Given the description of an element on the screen output the (x, y) to click on. 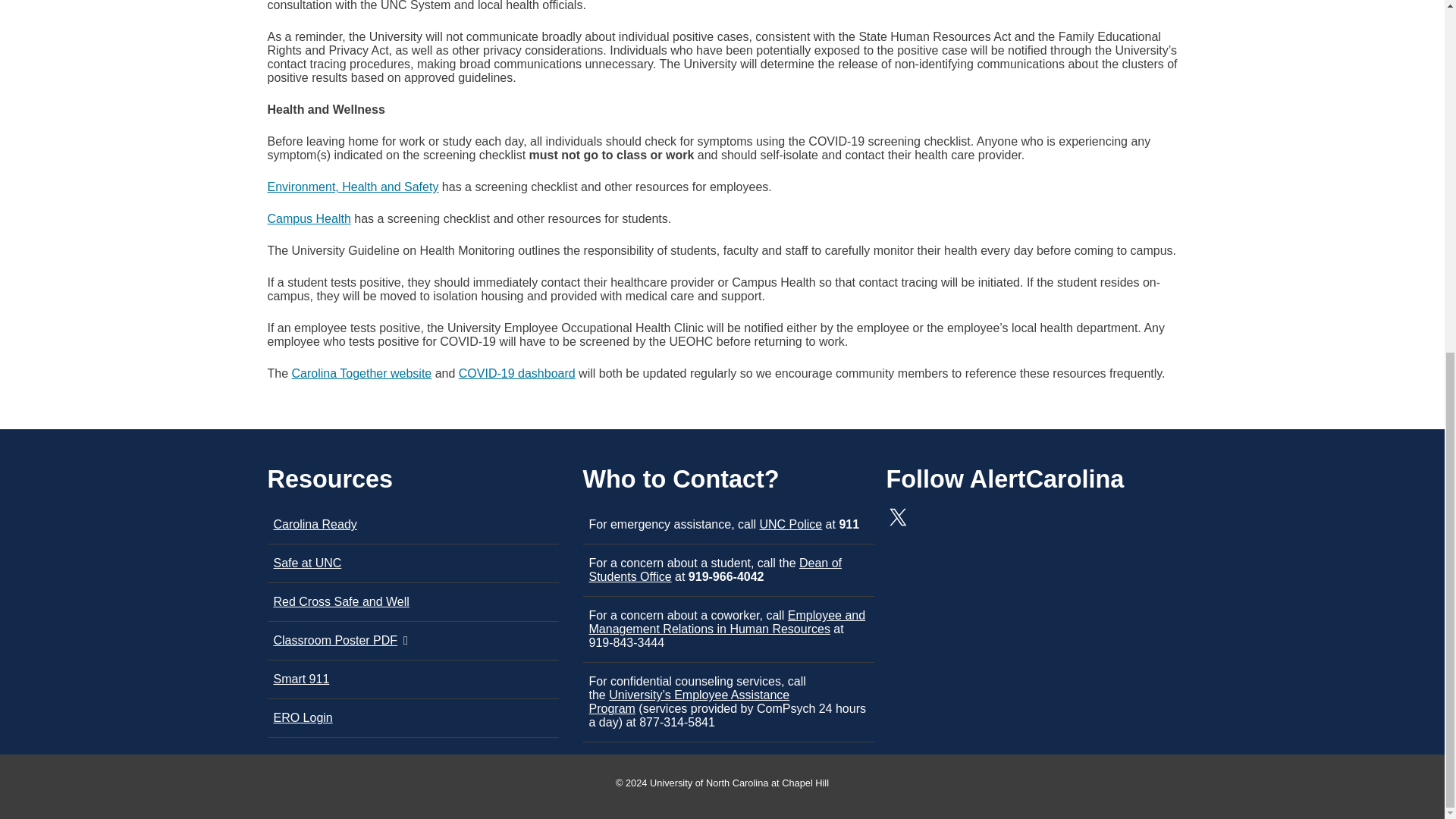
Red Cross Safe and Well (341, 601)
Dean of Students Office (714, 569)
Campus Health (308, 218)
Safe at UNC (306, 562)
Smart 911 (301, 678)
Carolina Together website (362, 373)
Employee and Management Relations in Human Resources (726, 622)
UNC Police (790, 523)
COVID-19 dashboard (516, 373)
Classroom Poster PDF (335, 640)
Carolina Ready (314, 523)
Environment, Health and Safety (352, 186)
ERO Login (302, 717)
